Given the description of an element on the screen output the (x, y) to click on. 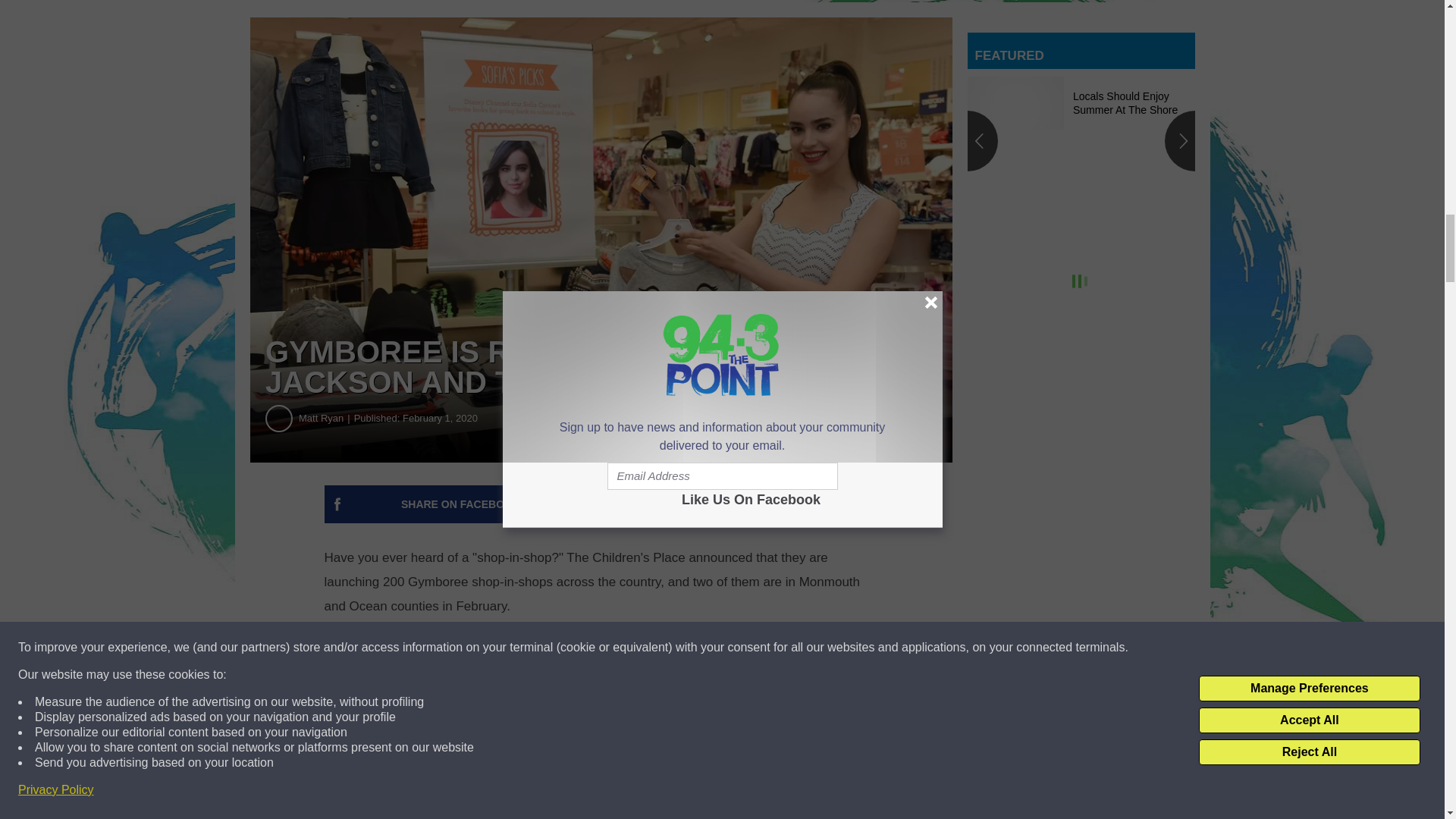
Share on Facebook (460, 504)
Share on Twitter (741, 504)
